Given the description of an element on the screen output the (x, y) to click on. 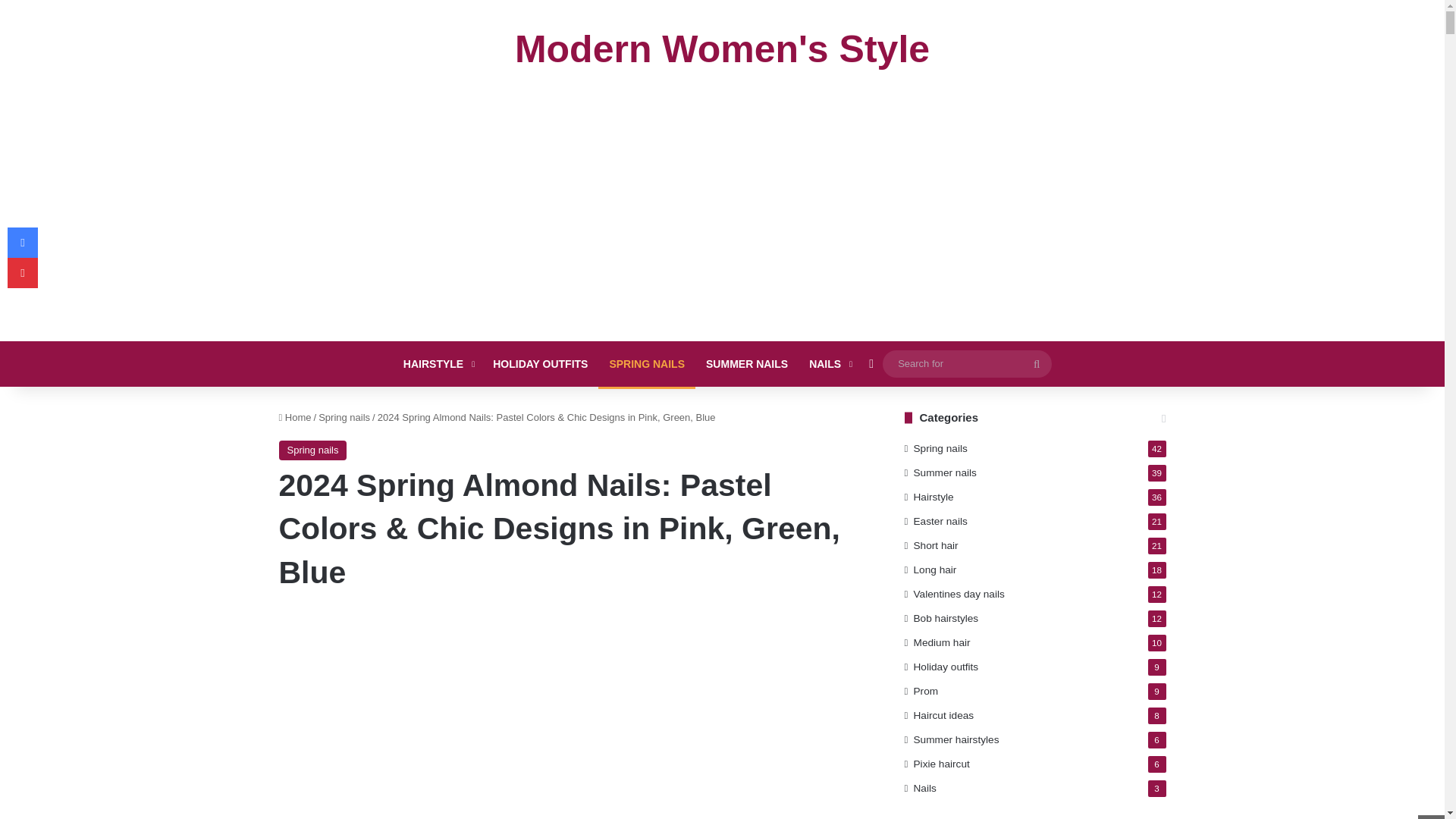
Search for (1036, 363)
NAILS (828, 363)
Facebook (22, 242)
Spring nails (343, 417)
Modern Women's Style (722, 48)
Modern Women's Style (722, 48)
Search for (966, 363)
Home (295, 417)
Spring nails (313, 450)
Short hair (936, 545)
HOLIDAY OUTFITS (539, 363)
Summer nails (945, 472)
HAIRSTYLE (437, 363)
SPRING NAILS (646, 363)
Easter nails (941, 521)
